Given the description of an element on the screen output the (x, y) to click on. 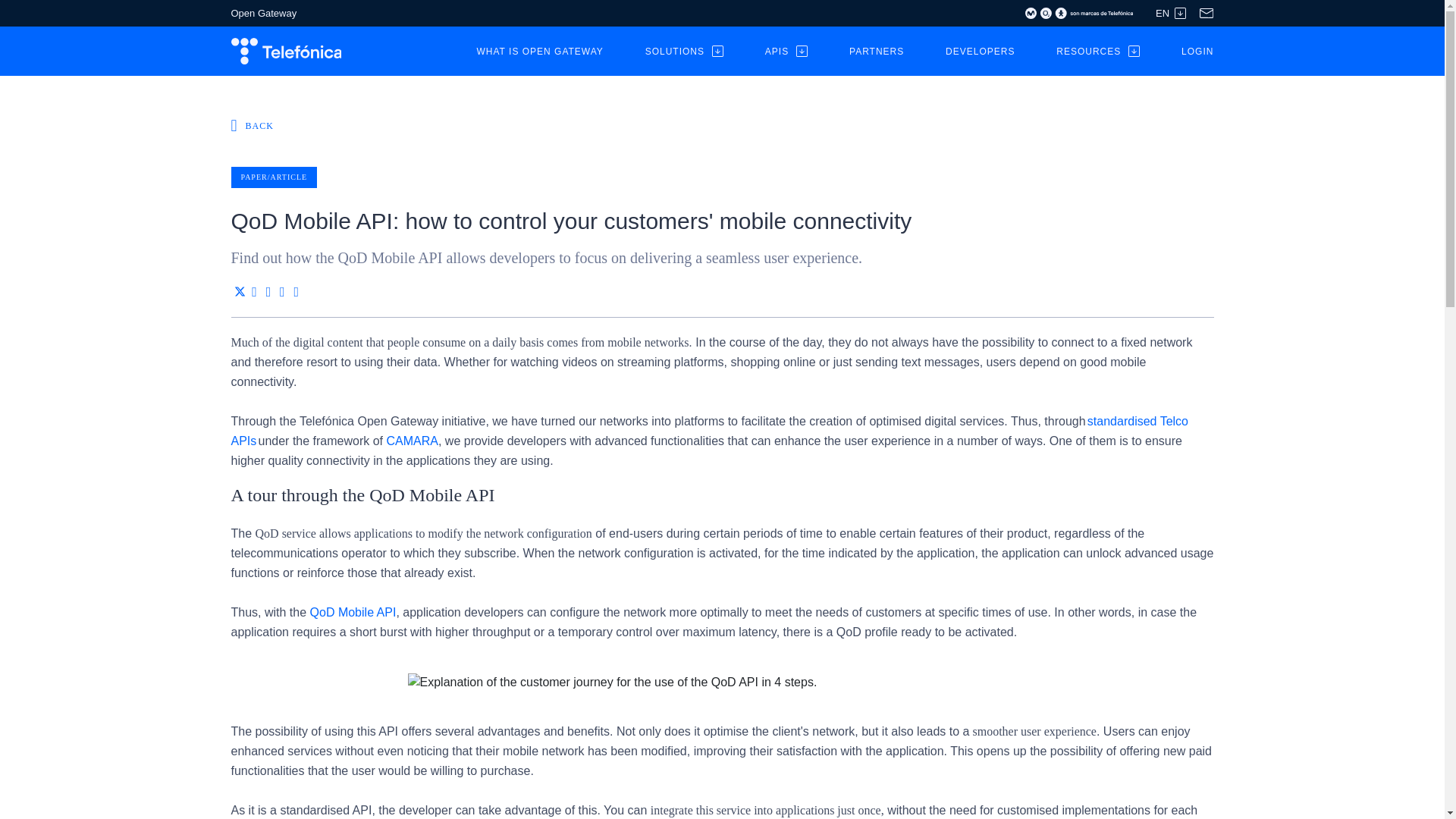
DEVELOPERS (979, 50)
RESOURCES (1098, 50)
PARTNERS (876, 50)
WHAT IS OPEN GATEWAY (539, 50)
LOGIN (1196, 50)
Contact (1205, 13)
EN (1171, 12)
APIS (786, 50)
Back (251, 125)
